Given the description of an element on the screen output the (x, y) to click on. 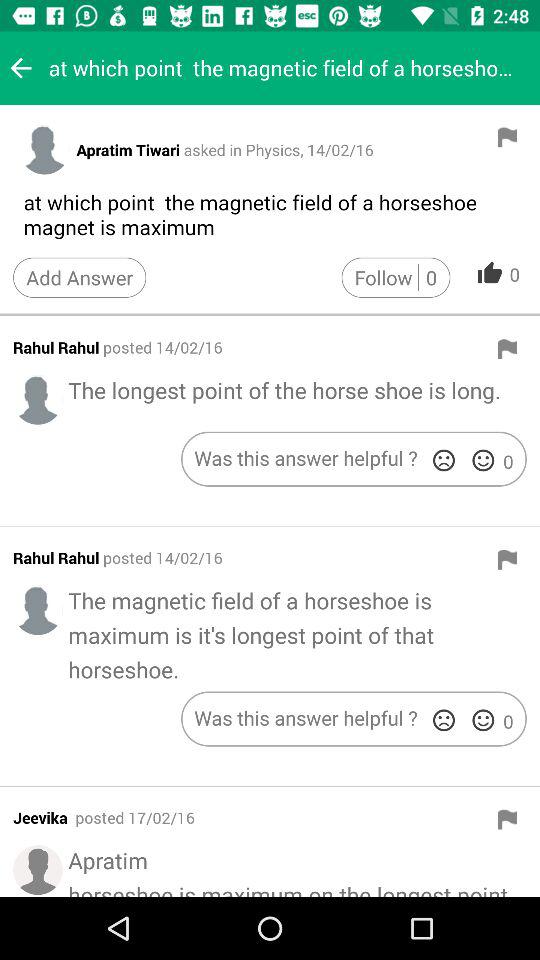
to rate a bad answer (443, 720)
